Given the description of an element on the screen output the (x, y) to click on. 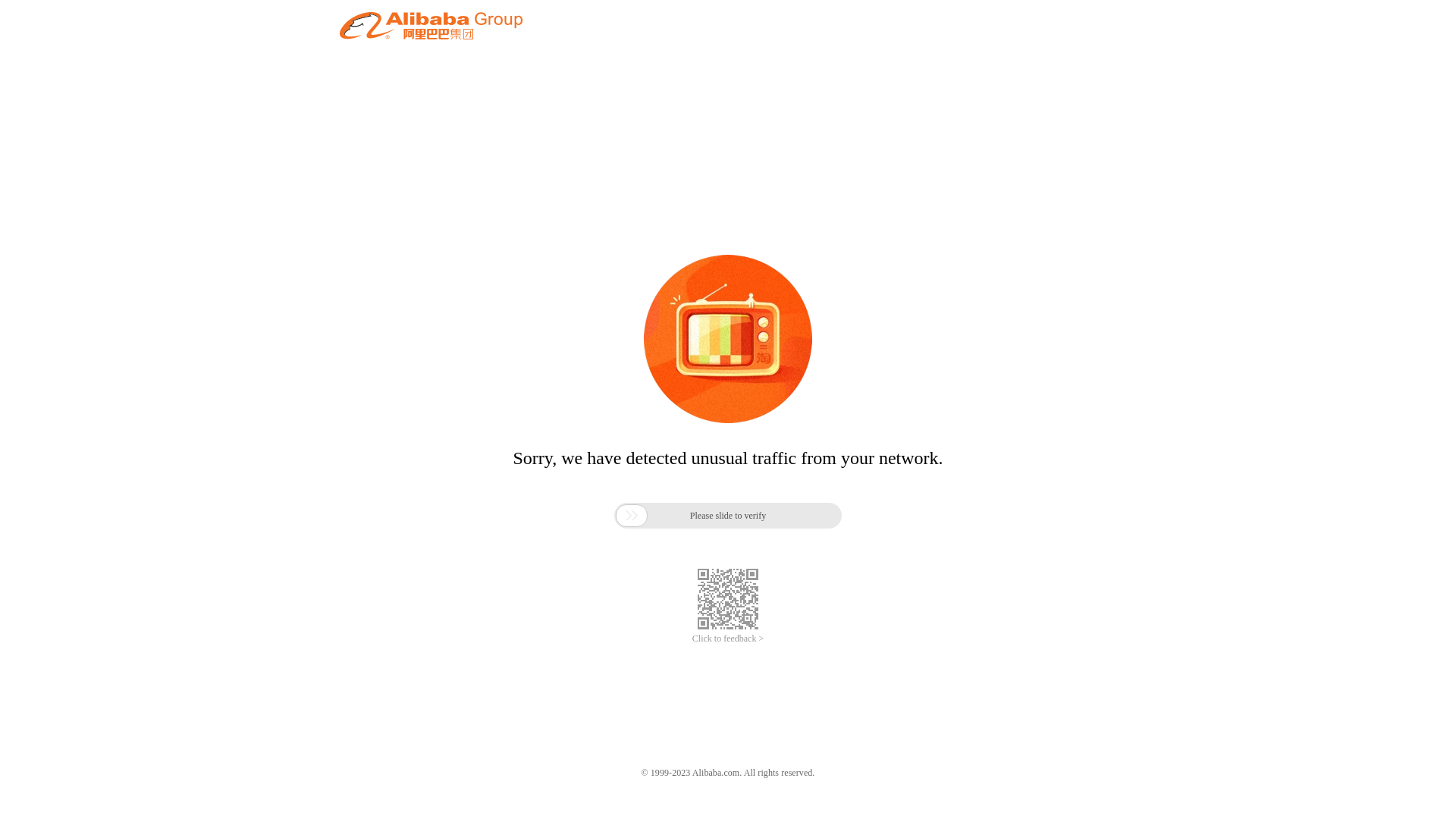
Click to feedback > Element type: text (727, 638)
